Given the description of an element on the screen output the (x, y) to click on. 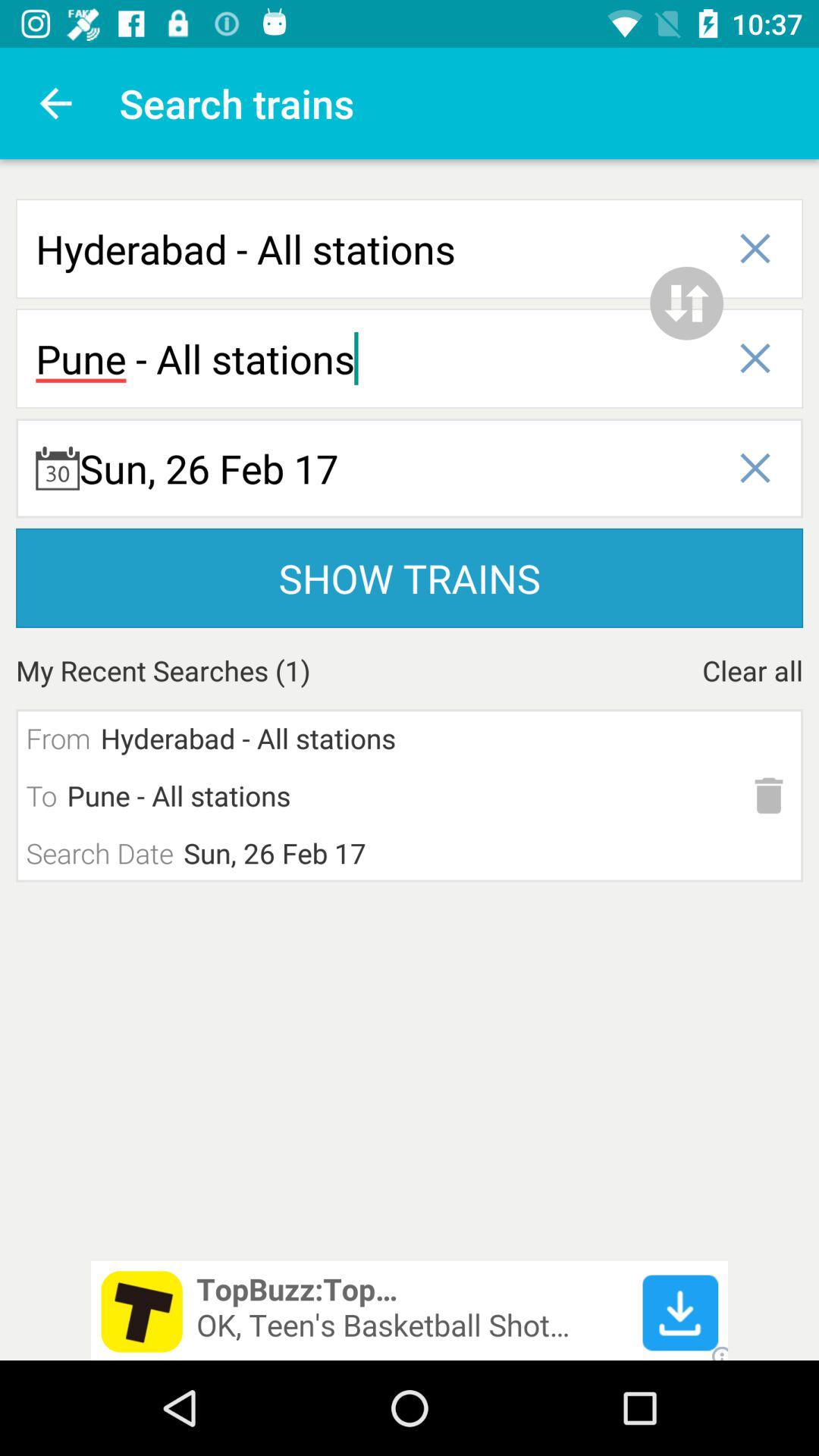
advertisement banner (409, 1310)
